Given the description of an element on the screen output the (x, y) to click on. 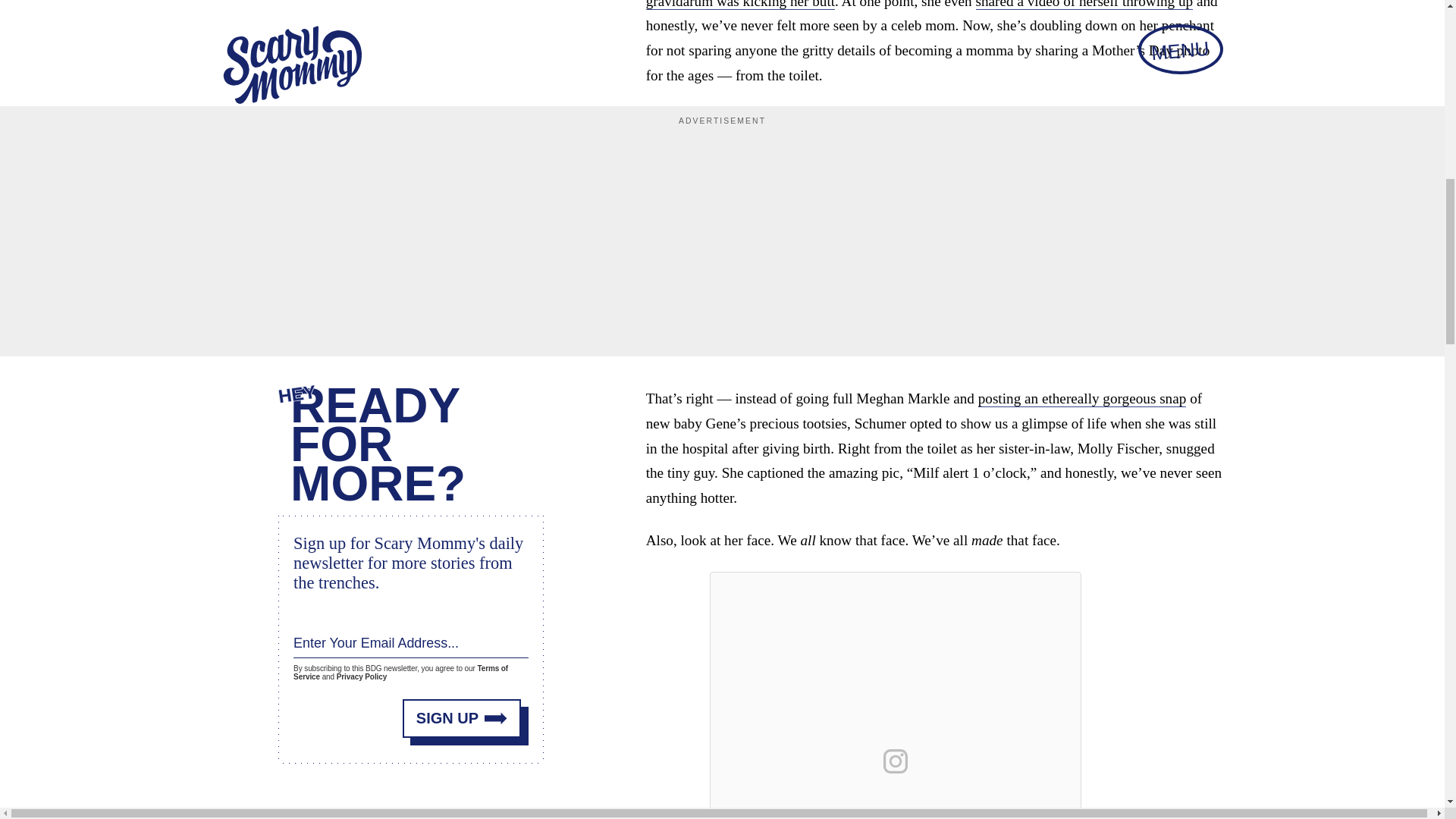
Terms of Service (401, 672)
Privacy Policy (361, 676)
shared a video of herself throwing up (1084, 4)
SIGN UP (462, 718)
posting an ethereally gorgeous snap (1082, 398)
View on Instagram (895, 760)
her hyperemesis gravidarum was kicking her butt (925, 4)
